Given the description of an element on the screen output the (x, y) to click on. 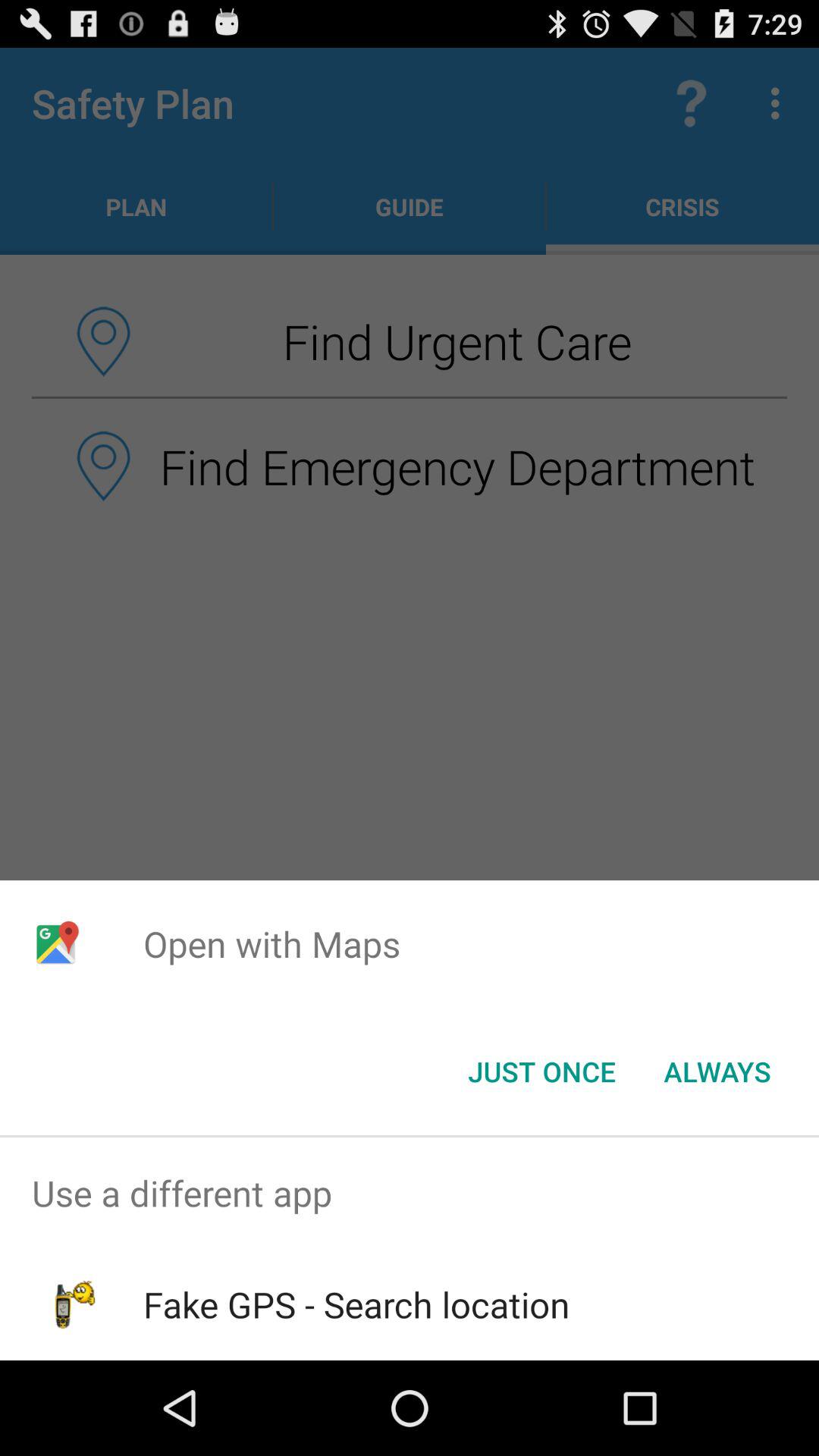
open use a different icon (409, 1192)
